Given the description of an element on the screen output the (x, y) to click on. 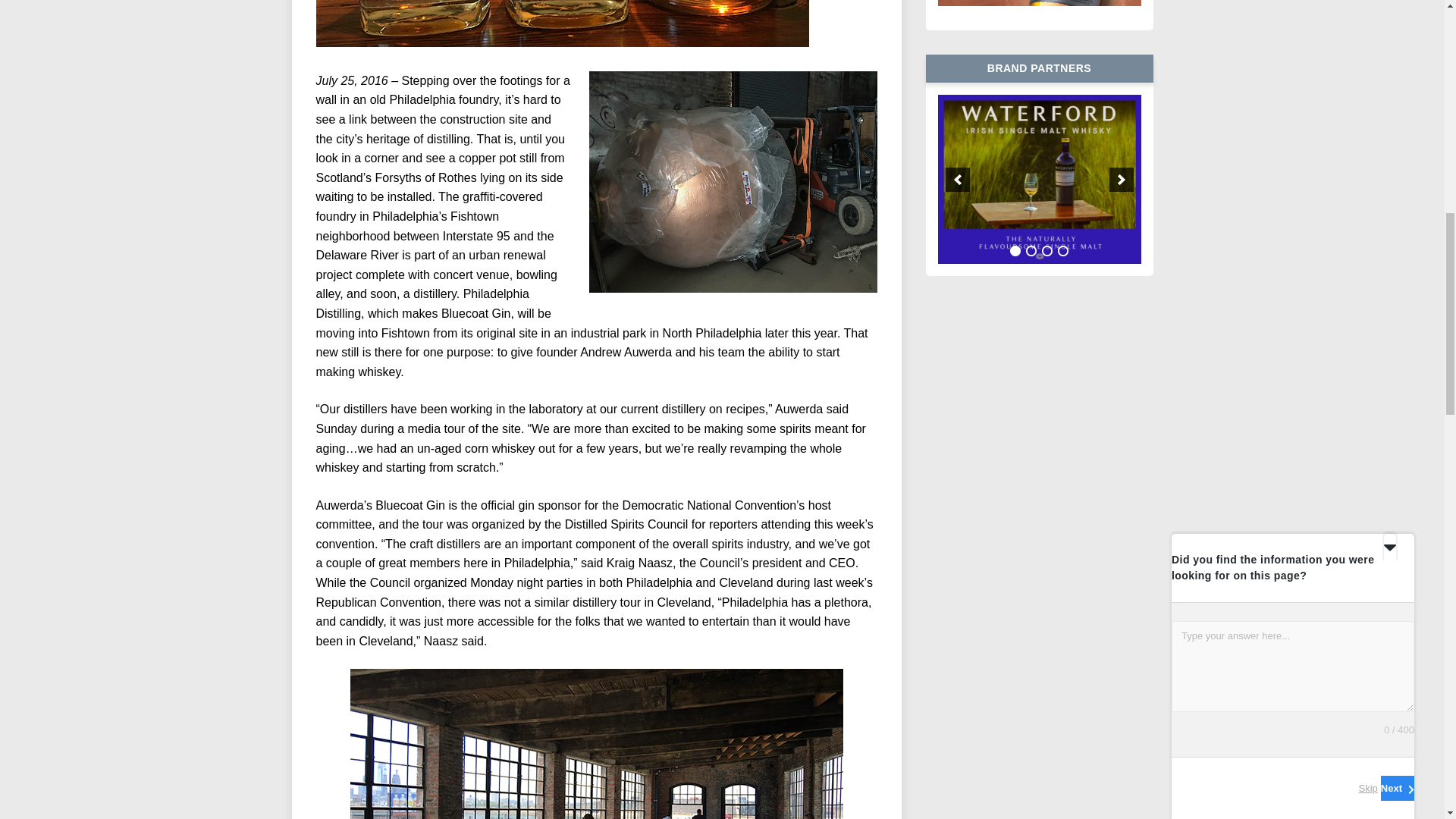
Waterford Whisky (1038, 179)
